Given the description of an element on the screen output the (x, y) to click on. 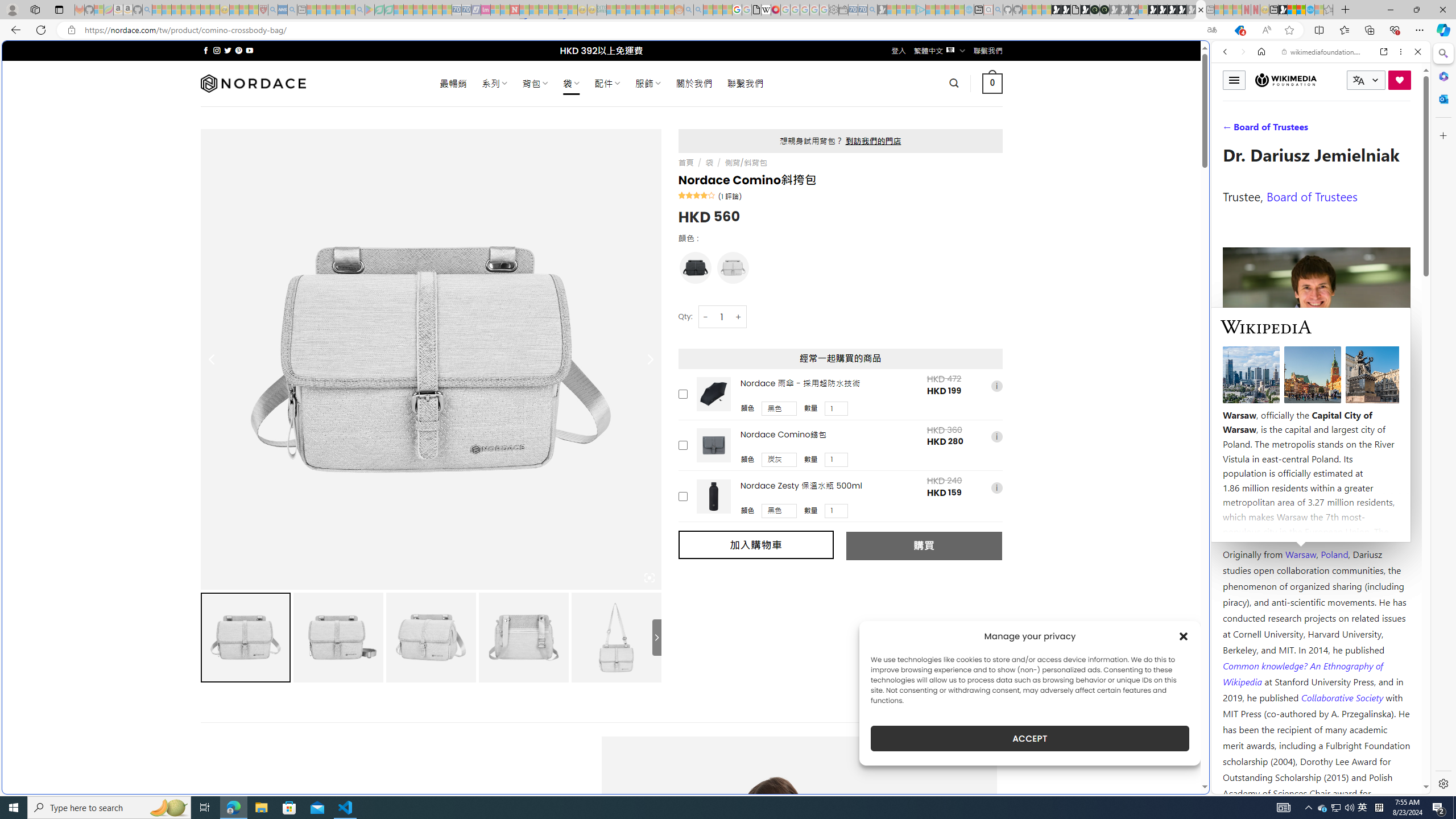
CURRENT LANGUAGE: (1366, 80)
Profile on Meta-Wiki (1273, 405)
